Given the description of an element on the screen output the (x, y) to click on. 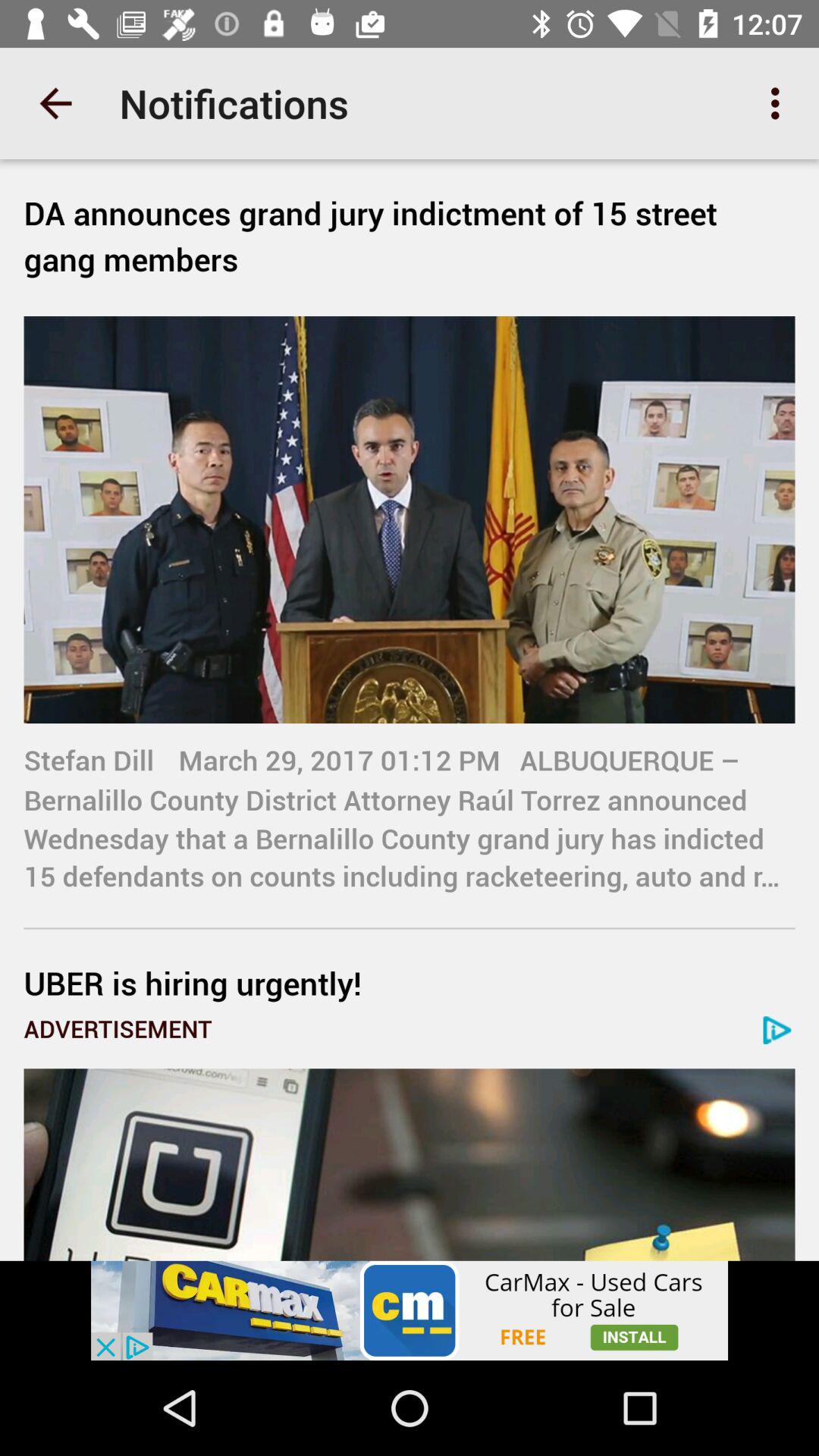
turn off app to the right of notifications app (779, 103)
